Given the description of an element on the screen output the (x, y) to click on. 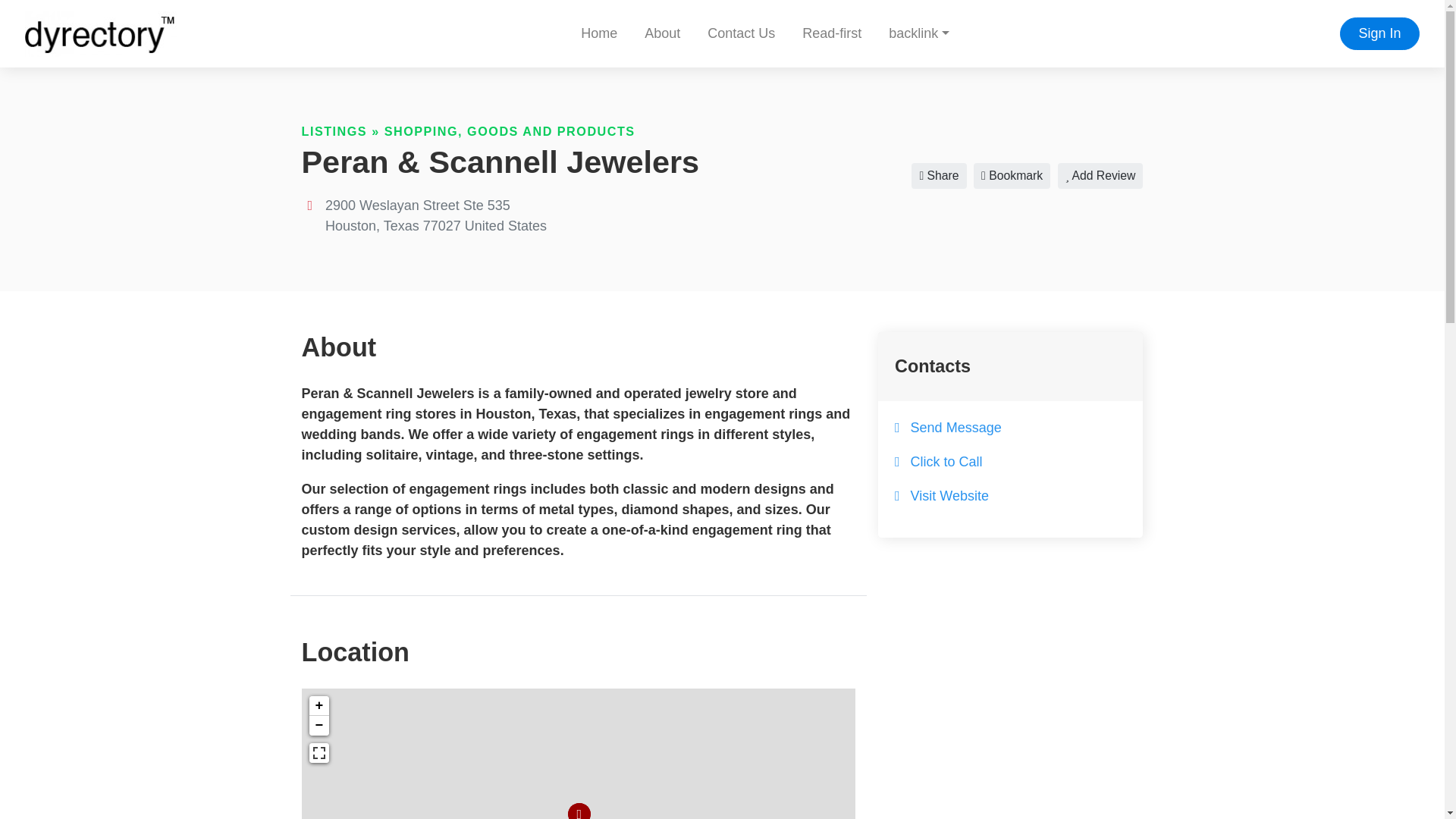
Sign In (1379, 33)
Zoom in (318, 705)
Zoom out (318, 725)
Contact Us (741, 33)
LISTINGS (334, 131)
SHOPPING, GOODS AND PRODUCTS (509, 131)
Send Message (956, 427)
Home (598, 33)
Visit Website (949, 495)
backlink (918, 33)
